Given the description of an element on the screen output the (x, y) to click on. 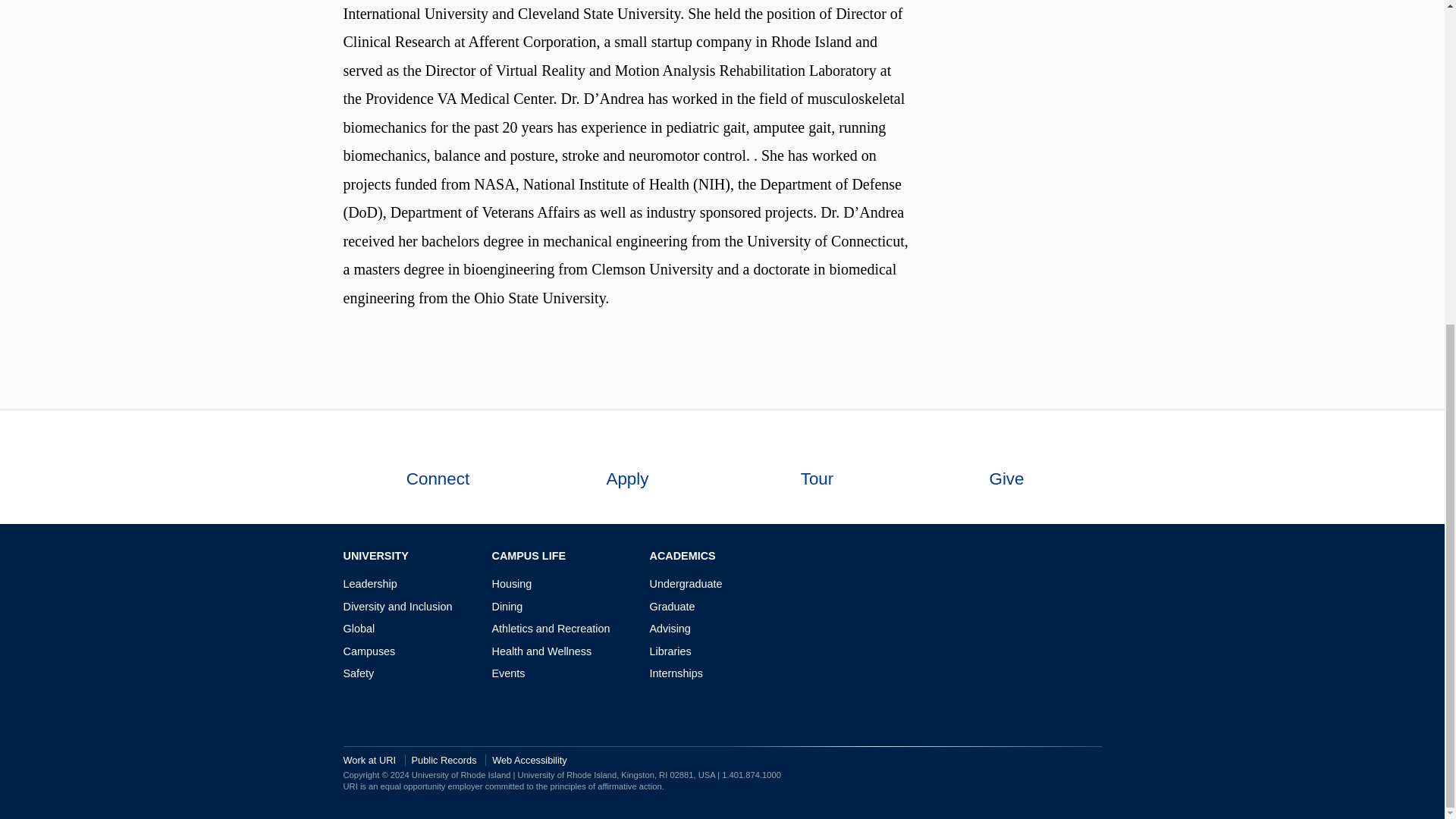
Libraries (669, 651)
Advising (669, 628)
Connect (437, 467)
Leadership (369, 583)
Learn more about URI: Get in touch (437, 449)
Safety (358, 673)
Global (358, 628)
Tour (816, 467)
Undergraduate (685, 583)
Campuses (368, 651)
Health and Wellness (541, 651)
Events (508, 673)
Graduate (671, 606)
Apply (627, 467)
Instagram (1048, 557)
